Given the description of an element on the screen output the (x, y) to click on. 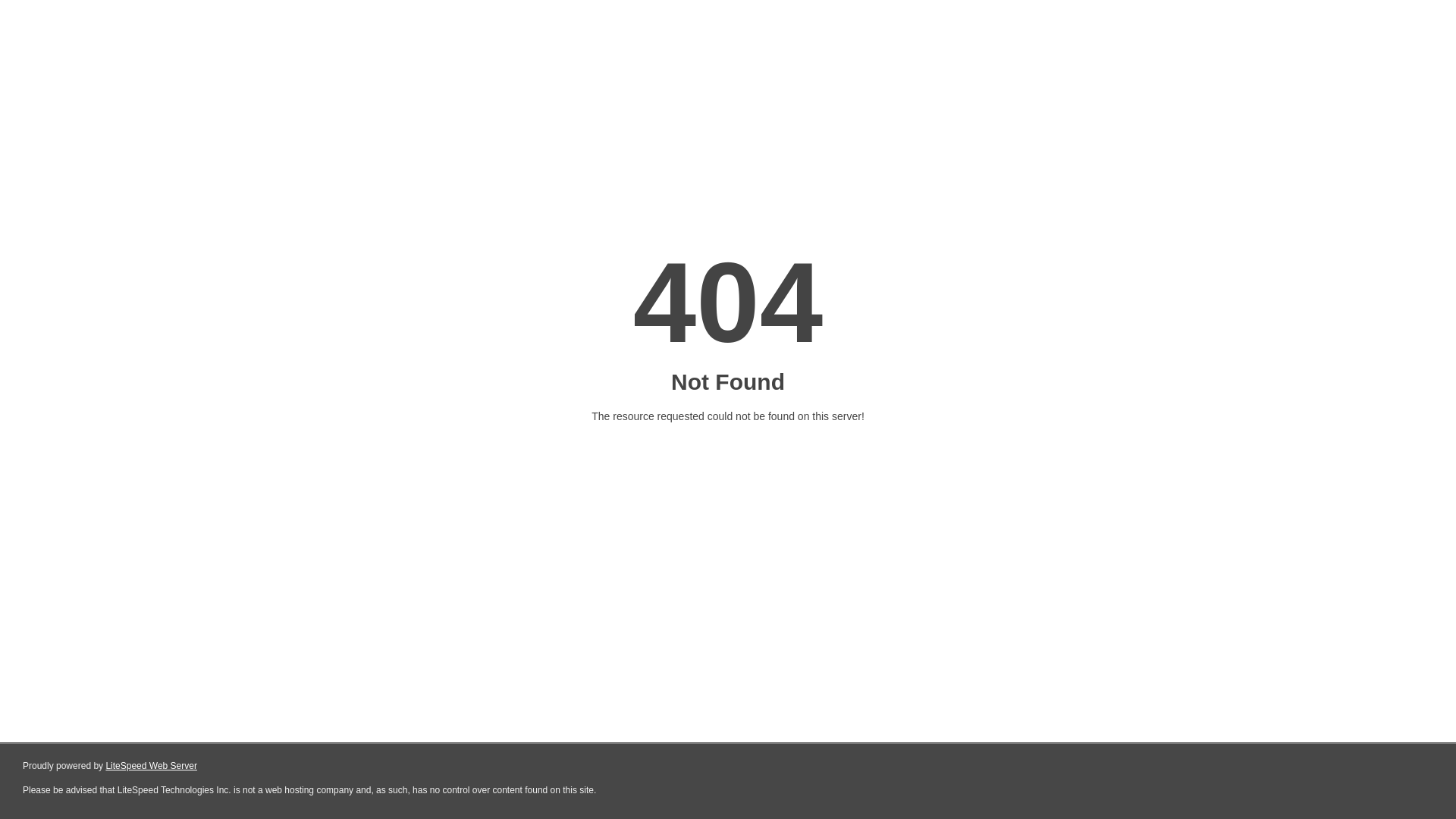
LiteSpeed Web Server Element type: text (151, 765)
